Given the description of an element on the screen output the (x, y) to click on. 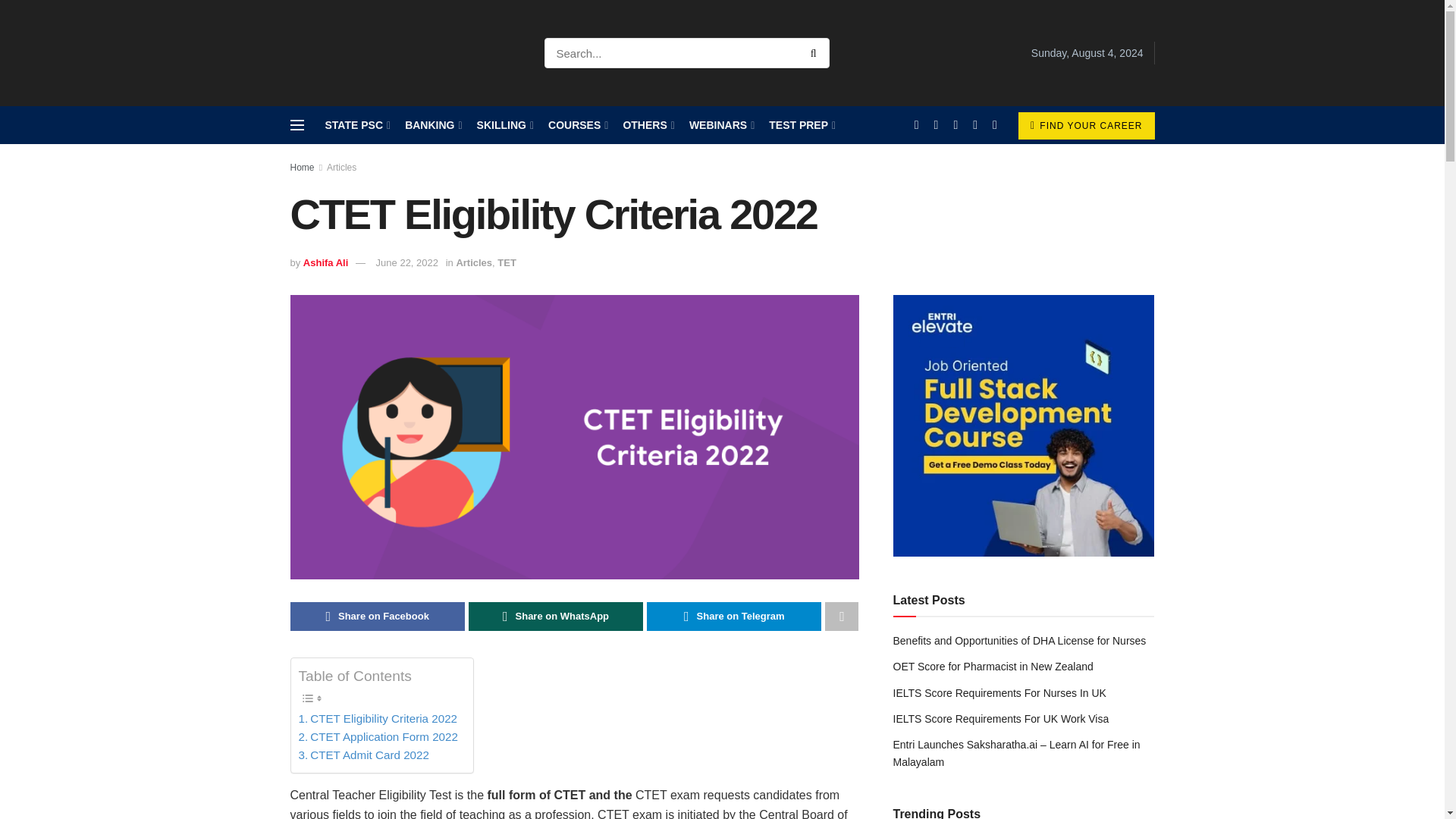
BANKING (432, 125)
CTET Application Form 2022 (378, 737)
CTET Admit Card 2022 (363, 755)
STATE PSC (356, 125)
CTET Eligibility Criteria 2022 (378, 719)
